Given the description of an element on the screen output the (x, y) to click on. 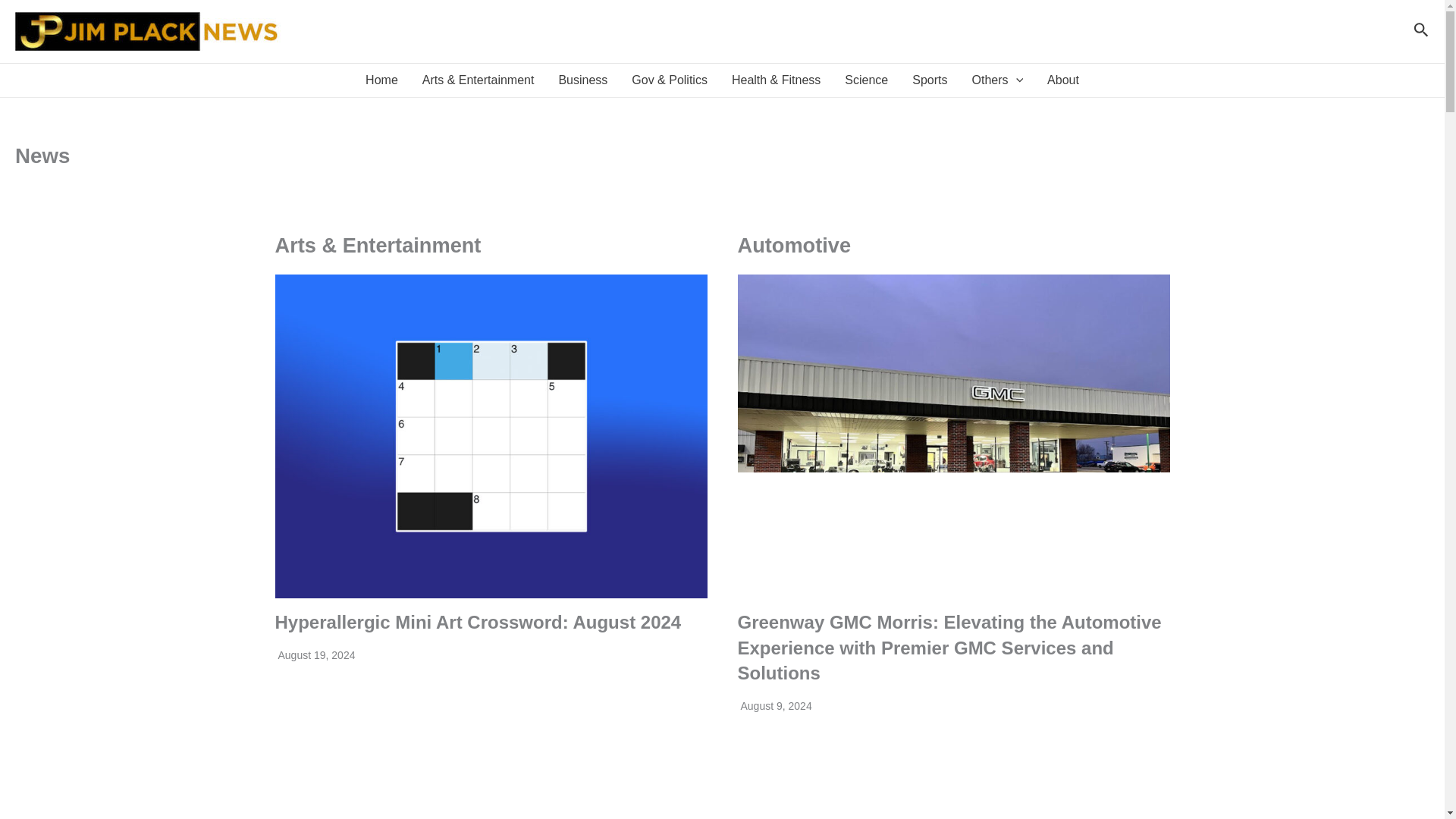
Home (381, 80)
Others (997, 80)
Sports (929, 80)
About (1062, 80)
Business (583, 80)
Science (865, 80)
